Given the description of an element on the screen output the (x, y) to click on. 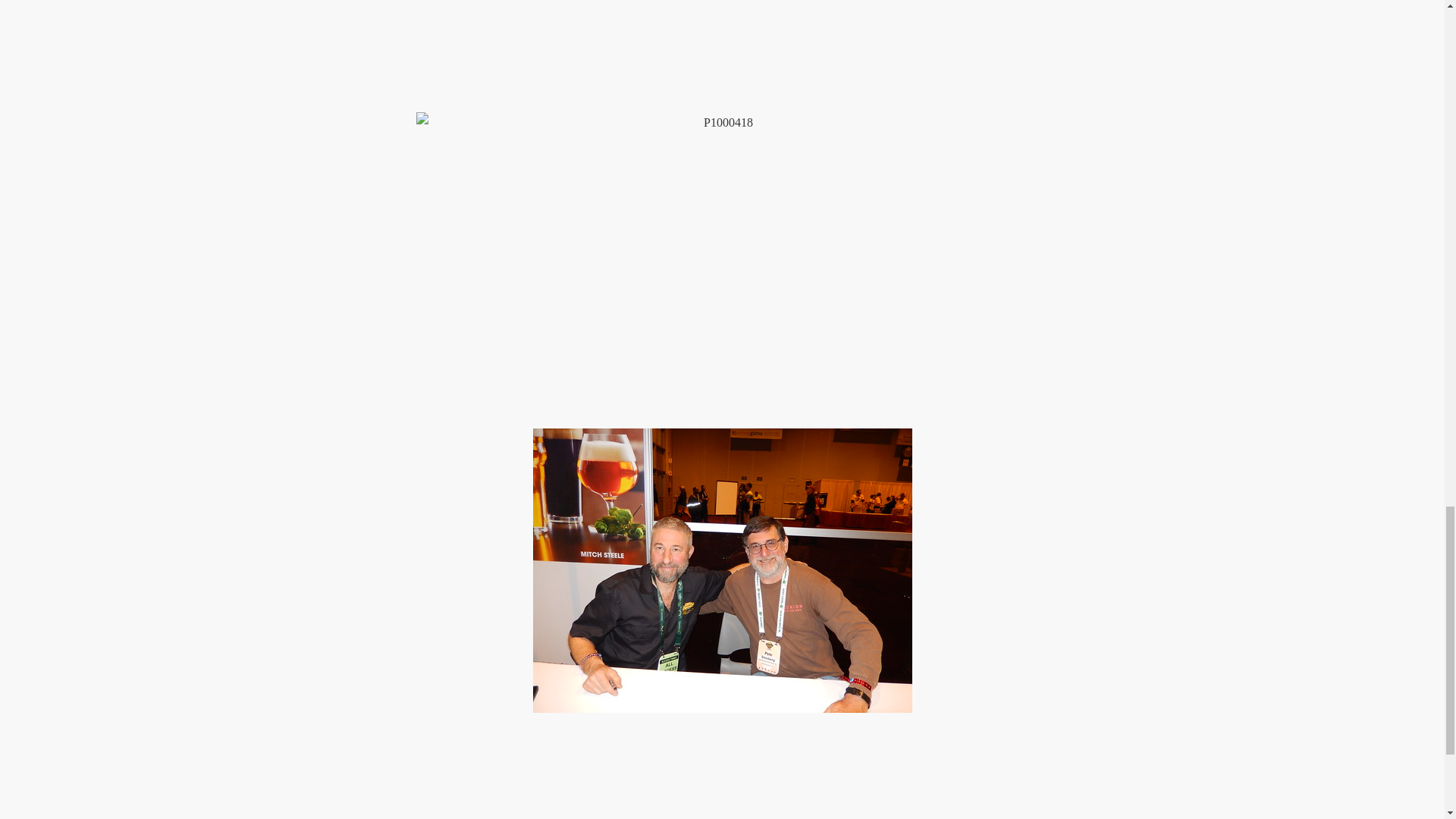
Birthdays (494, 778)
California (466, 810)
Northern California (540, 810)
Just For Fun (552, 778)
